Given the description of an element on the screen output the (x, y) to click on. 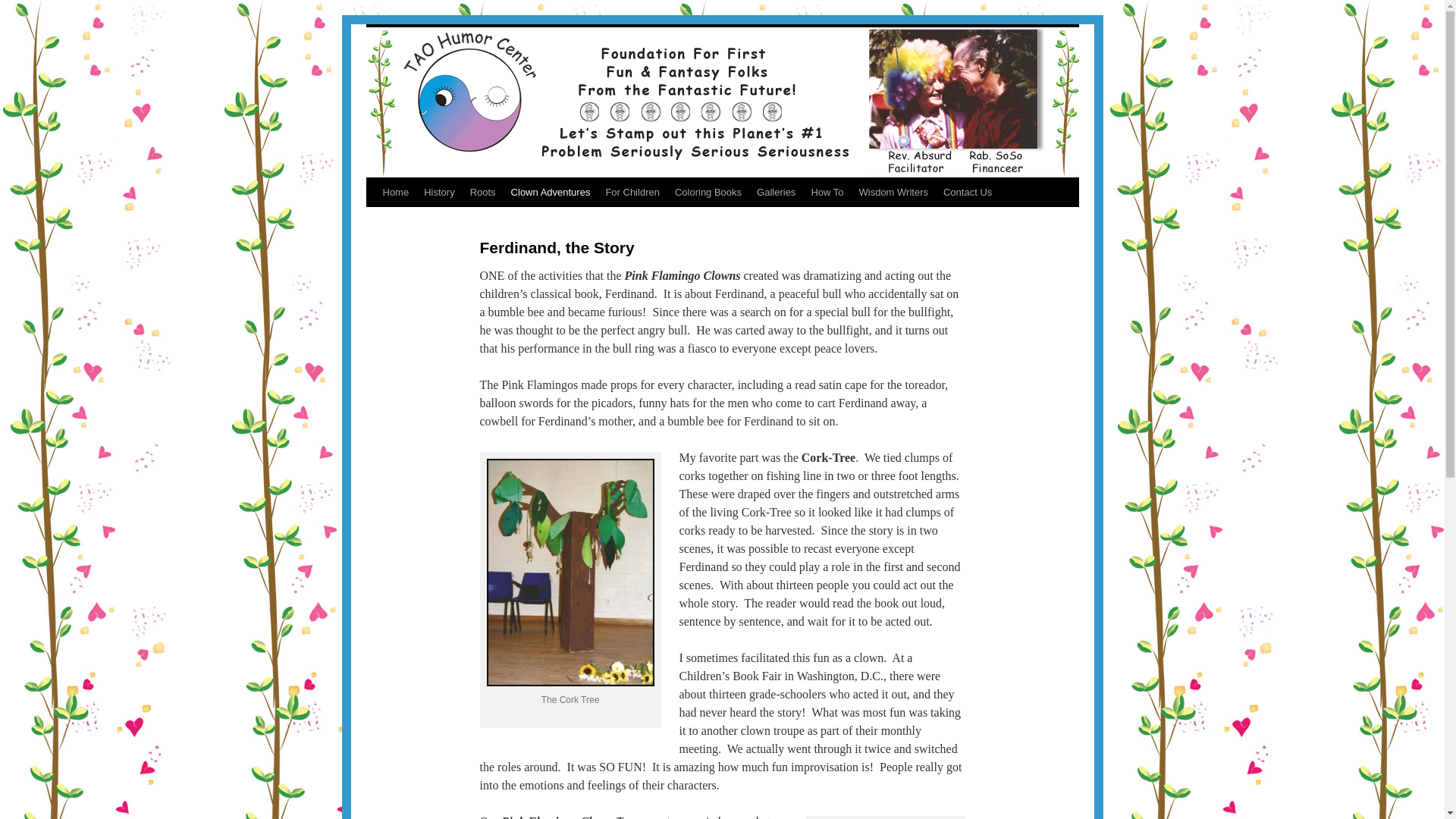
History (438, 192)
For Children (631, 192)
Clown Adventures (550, 192)
Home (395, 192)
Roots (483, 192)
